Given the description of an element on the screen output the (x, y) to click on. 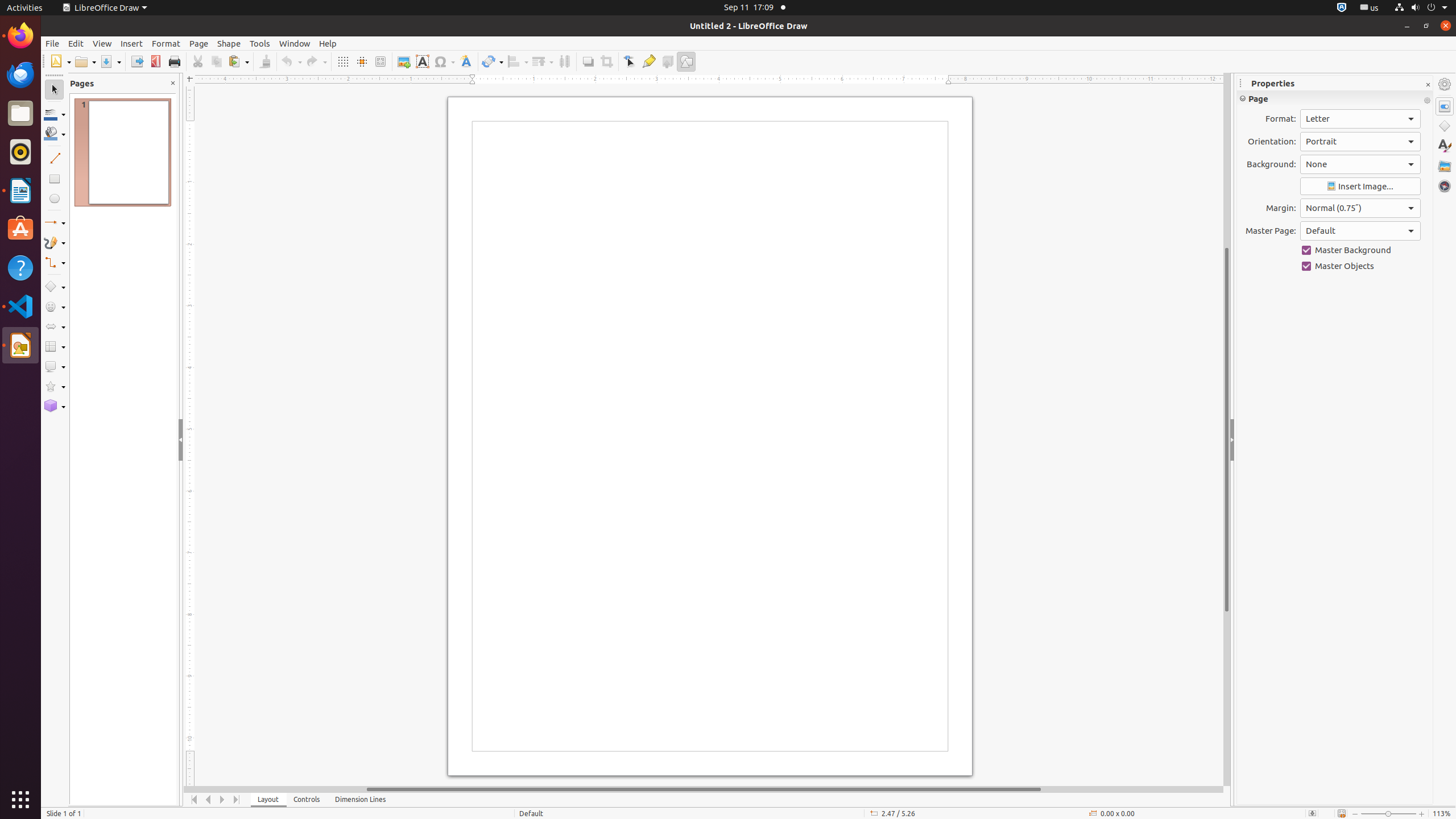
Line Element type: push-button (53, 158)
Format Element type: menu (165, 43)
Move To End Element type: push-button (236, 799)
Navigator Element type: radio-button (1444, 185)
Curves and Polygons Element type: push-button (54, 242)
